Given the description of an element on the screen output the (x, y) to click on. 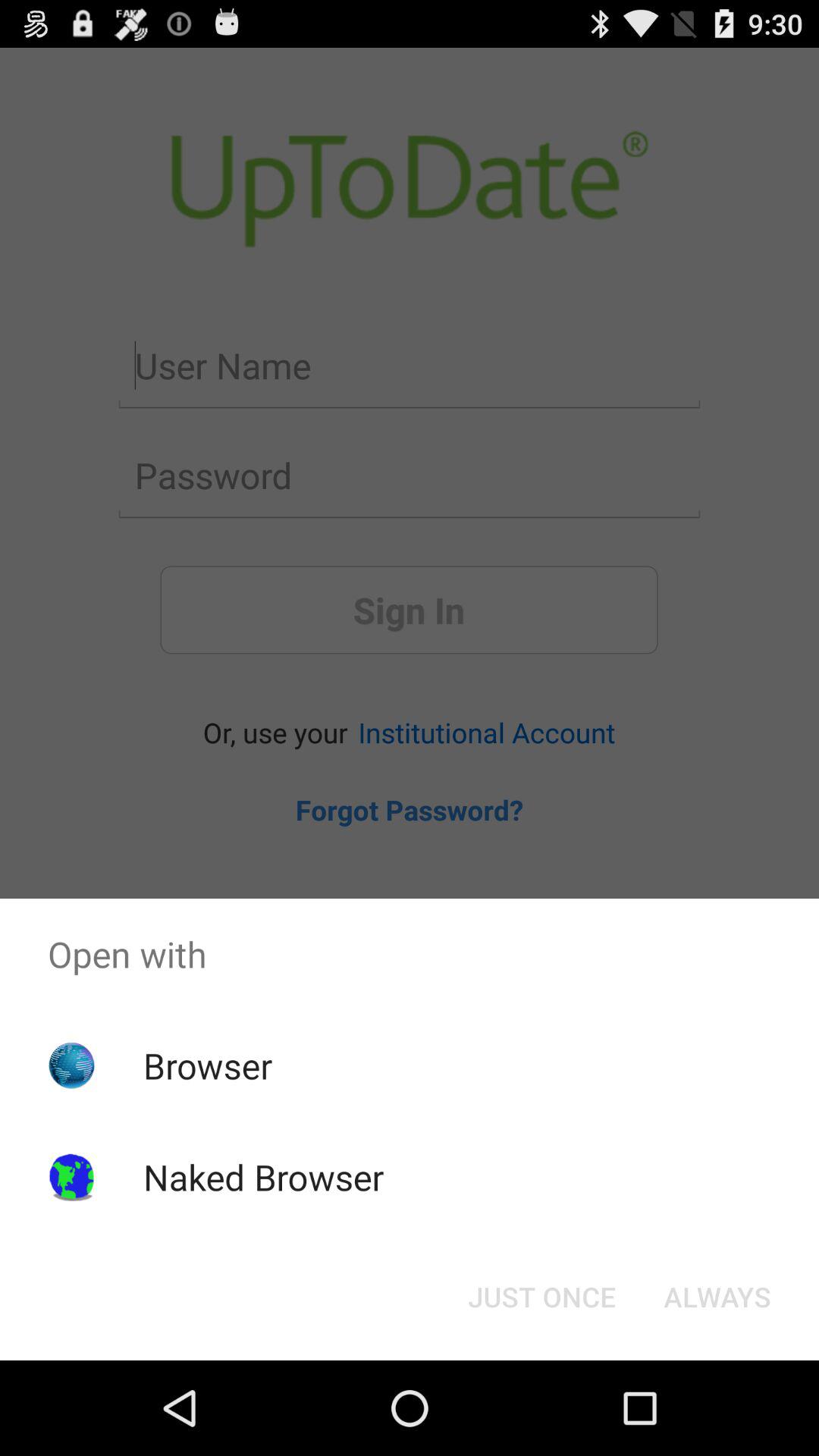
swipe to always icon (717, 1296)
